Given the description of an element on the screen output the (x, y) to click on. 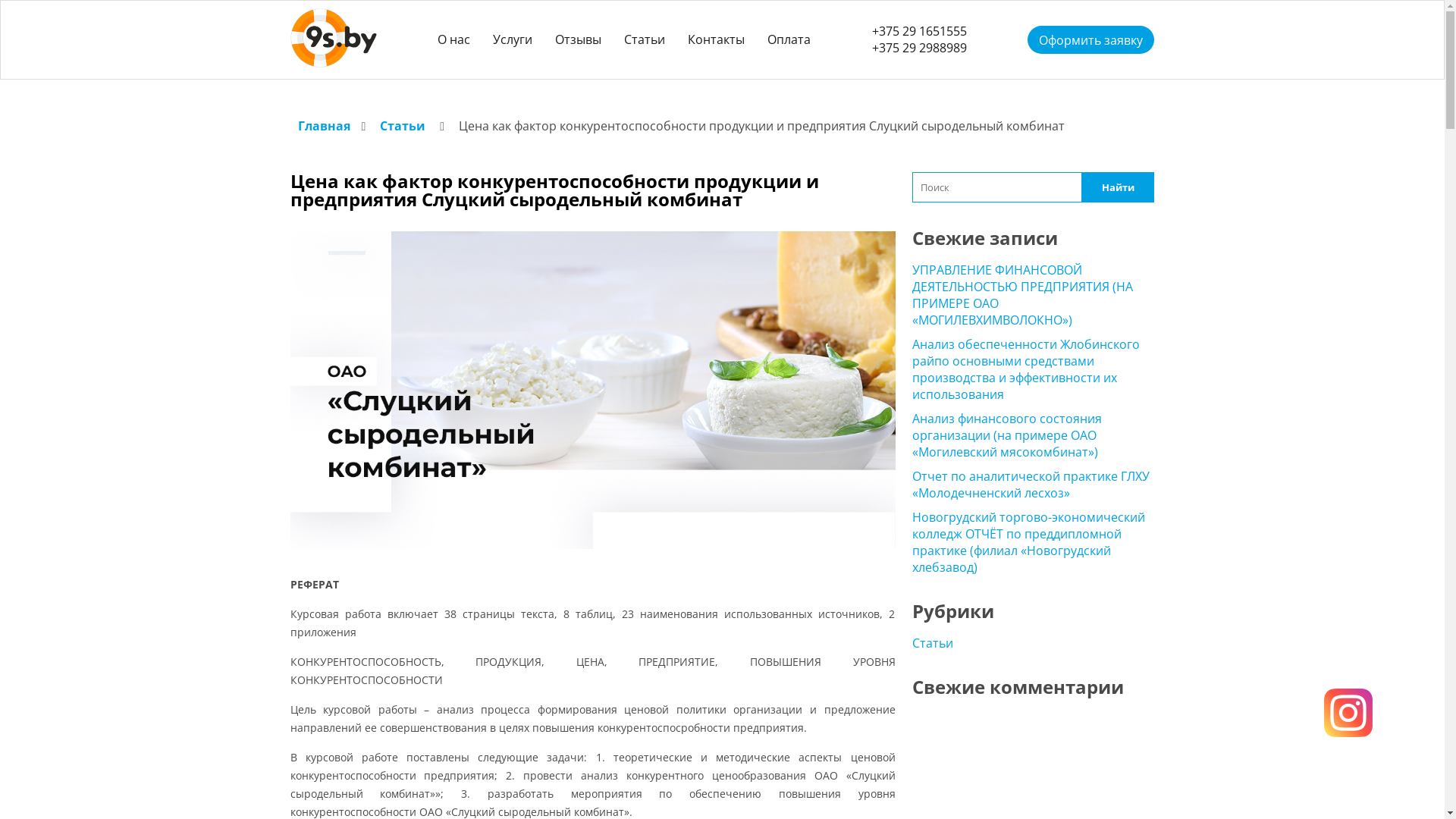
+375 29 2988989 Element type: text (919, 47)
+375 29 1651555 Element type: text (919, 30)
